Given the description of an element on the screen output the (x, y) to click on. 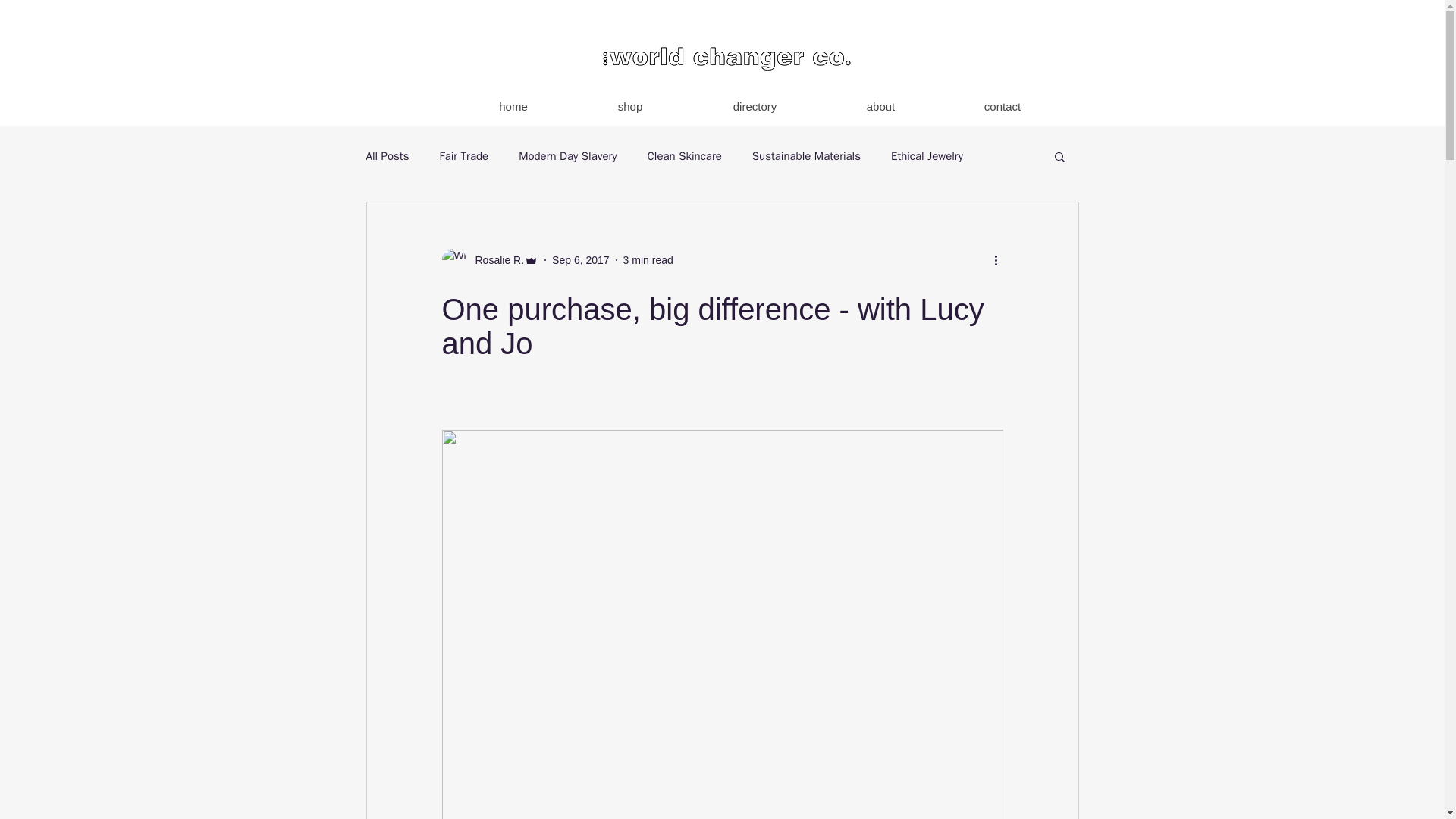
All Posts (387, 155)
shop (629, 106)
Sustainable Materials (806, 155)
directory (754, 106)
3 min read (647, 259)
Clean Skincare (684, 155)
contact (1001, 106)
Fair Trade (463, 155)
home (513, 106)
Modern Day Slavery (566, 155)
Rosalie R. (489, 259)
Rosalie R. (494, 259)
Ethical Jewelry (926, 155)
Sep 6, 2017 (580, 259)
about (880, 106)
